Given the description of an element on the screen output the (x, y) to click on. 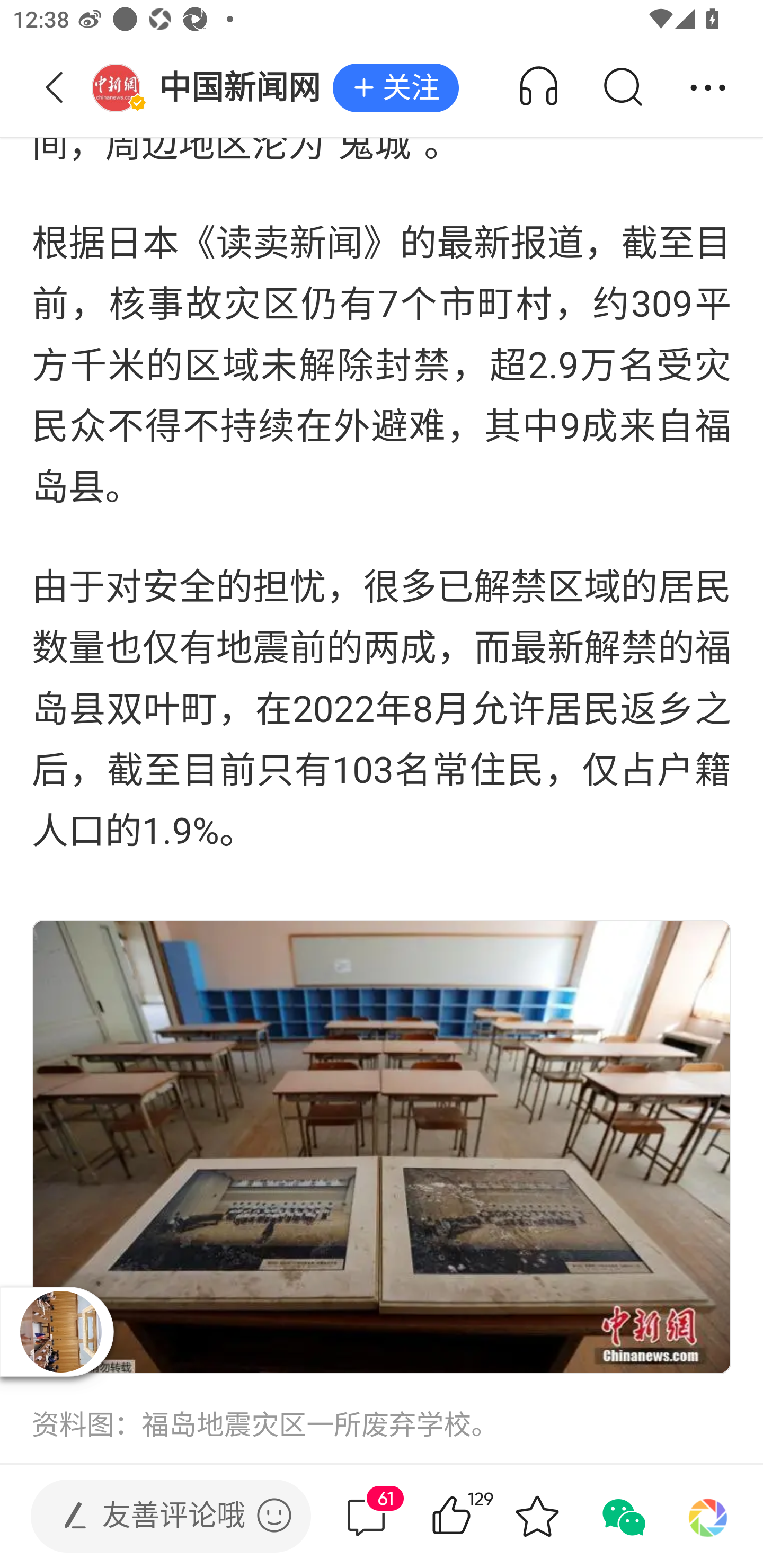
中国新闻网 (211, 87)
搜索  (622, 87)
分享  (707, 87)
 返回 (54, 87)
 关注 (395, 88)
新闻图片 (381, 1145)
播放器 (60, 1331)
发表评论  友善评论哦 发表评论  (155, 1516)
61评论  61 评论 (365, 1516)
129赞 (476, 1516)
收藏  (536, 1516)
分享到微信  (622, 1516)
分享到朋友圈 (707, 1516)
 (274, 1515)
